Given the description of an element on the screen output the (x, y) to click on. 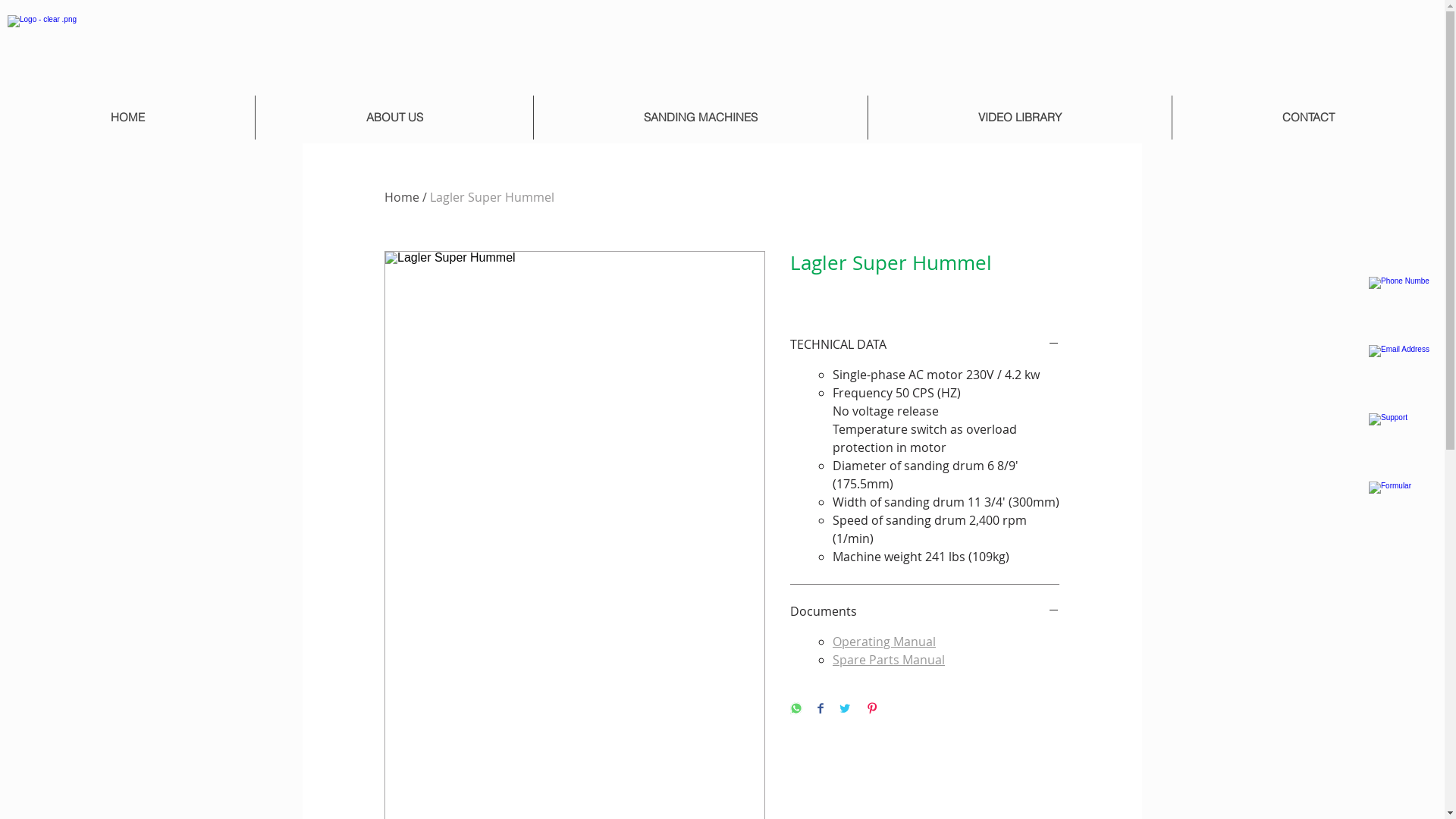
Operating Manual Element type: text (883, 641)
TECHNICAL DATA Element type: text (924, 343)
HOME Element type: text (127, 117)
Spare Parts Manual Element type: text (888, 659)
Home Element type: text (401, 196)
ABOUT US Element type: text (393, 117)
Documents Element type: text (924, 610)
Lagler Super Hummel Element type: text (491, 196)
CONTACT Element type: text (1307, 117)
SANDING MACHINES Element type: text (700, 117)
